Given the description of an element on the screen output the (x, y) to click on. 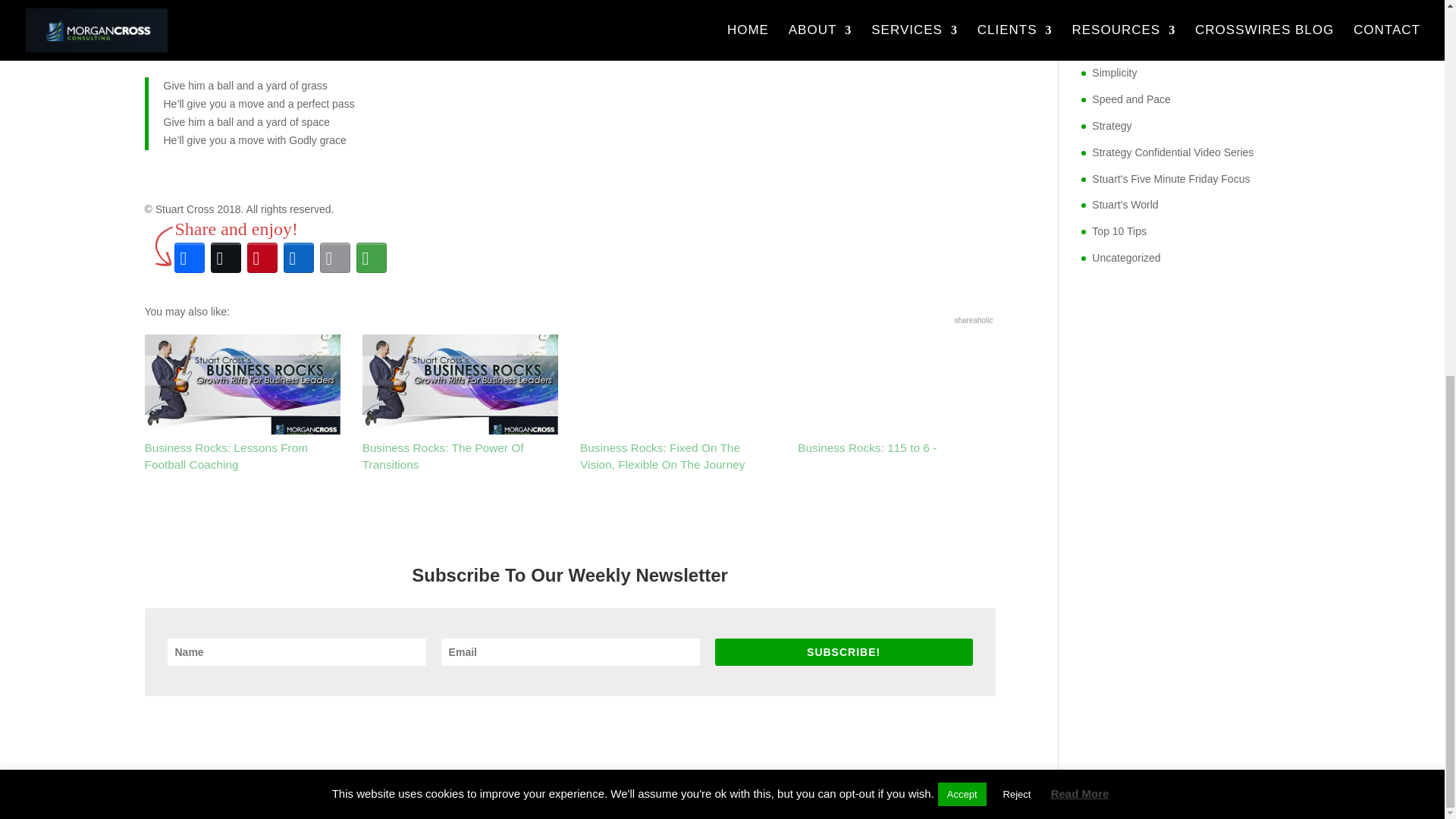
Facebook (189, 257)
More Options (371, 257)
Business Rocks: 115 to 6 - (894, 394)
Business Rocks: The Power Of Transitions (459, 402)
Website Tools by Shareaholic (972, 320)
Business Rocks: Lessons From Football Coaching (241, 402)
Email This (335, 257)
Pinterest (262, 257)
LinkedIn (299, 257)
Business Rocks: Fixed On The Vision, Flexible On The Journey (677, 402)
